Given the description of an element on the screen output the (x, y) to click on. 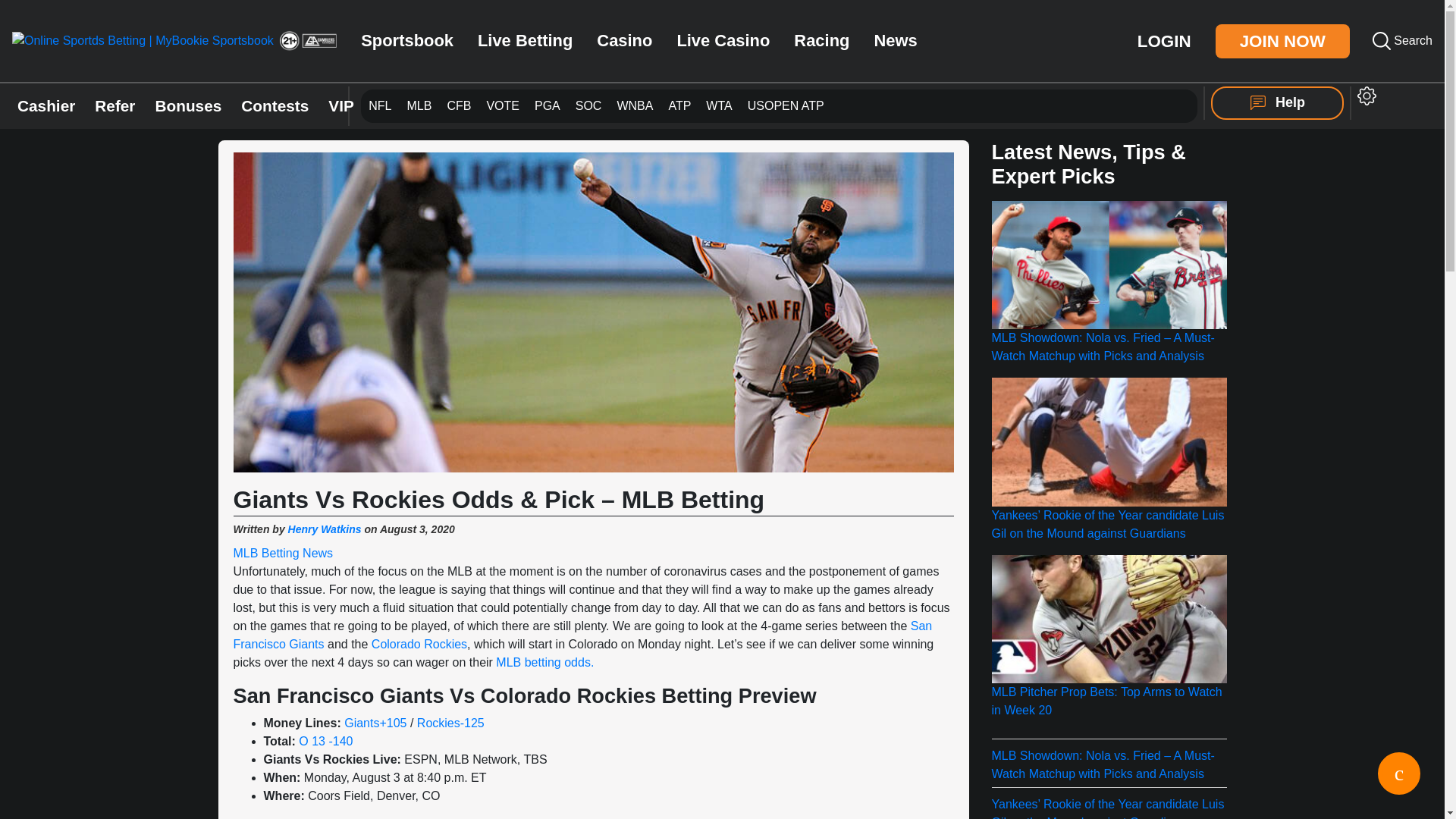
WTA (719, 105)
Contests (274, 106)
WNBA (634, 105)
USOPEN ATP (785, 105)
SOC (588, 105)
CFB (459, 105)
NFL (379, 105)
ATP (679, 105)
Live Casino (723, 40)
VOTE (502, 105)
